Given the description of an element on the screen output the (x, y) to click on. 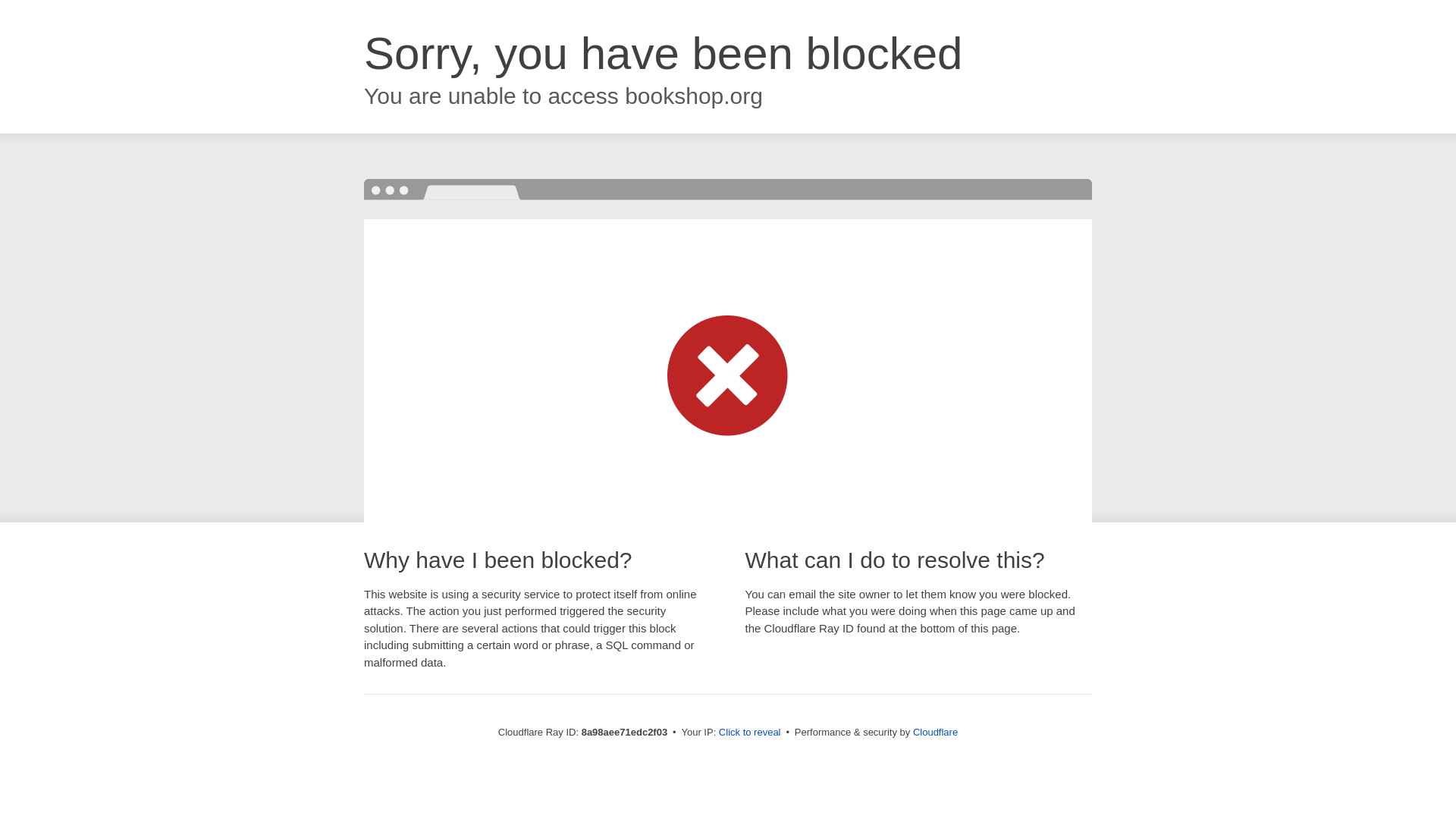
Cloudflare (935, 731)
Click to reveal (749, 732)
